Given the description of an element on the screen output the (x, y) to click on. 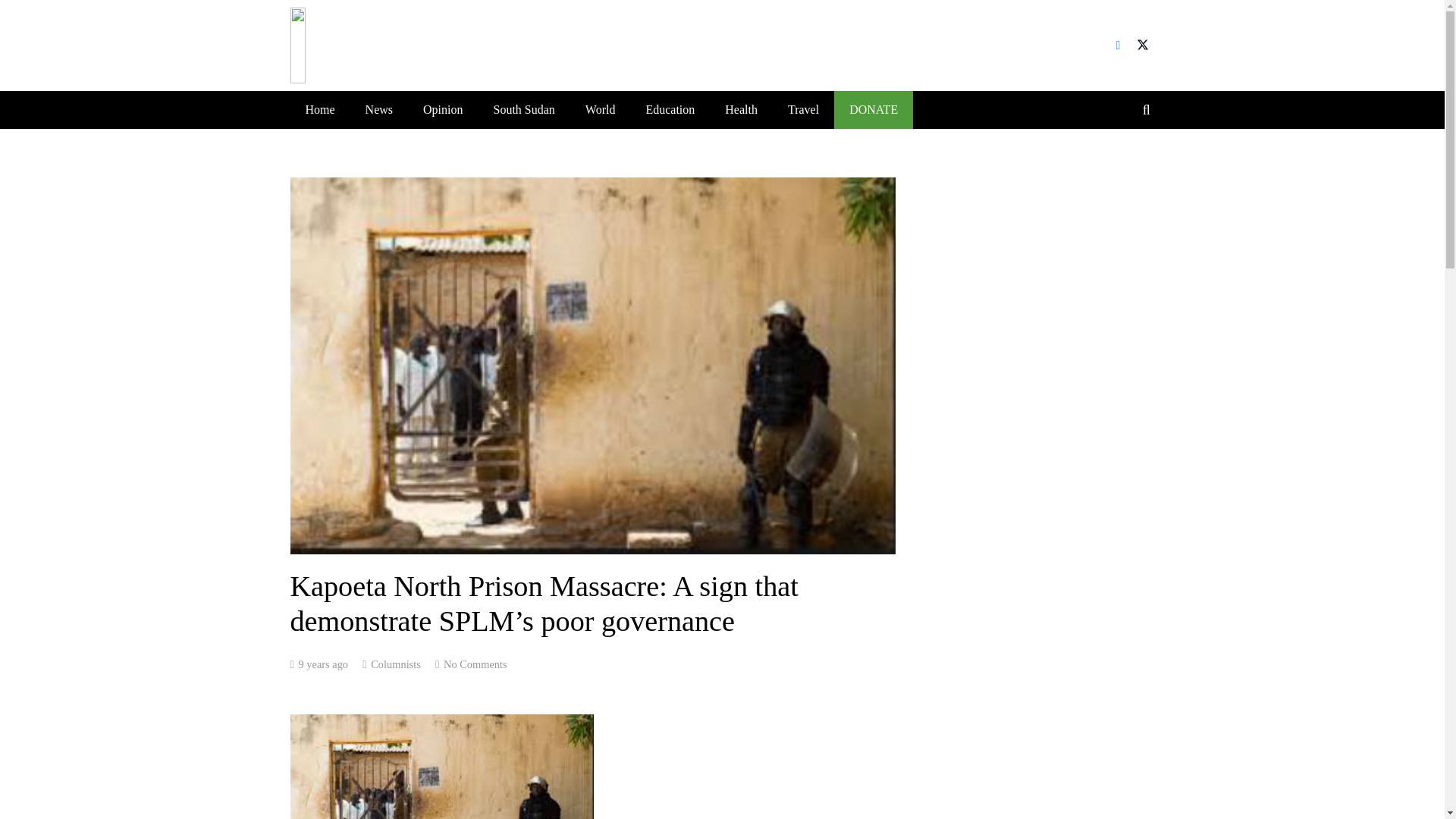
Twitter (1141, 45)
Travel (803, 109)
No Comments (475, 664)
News (378, 109)
DONATE (873, 109)
Opinion (442, 109)
Home (319, 109)
Photo credit: File (440, 766)
Education (670, 109)
World (600, 109)
